Given the description of an element on the screen output the (x, y) to click on. 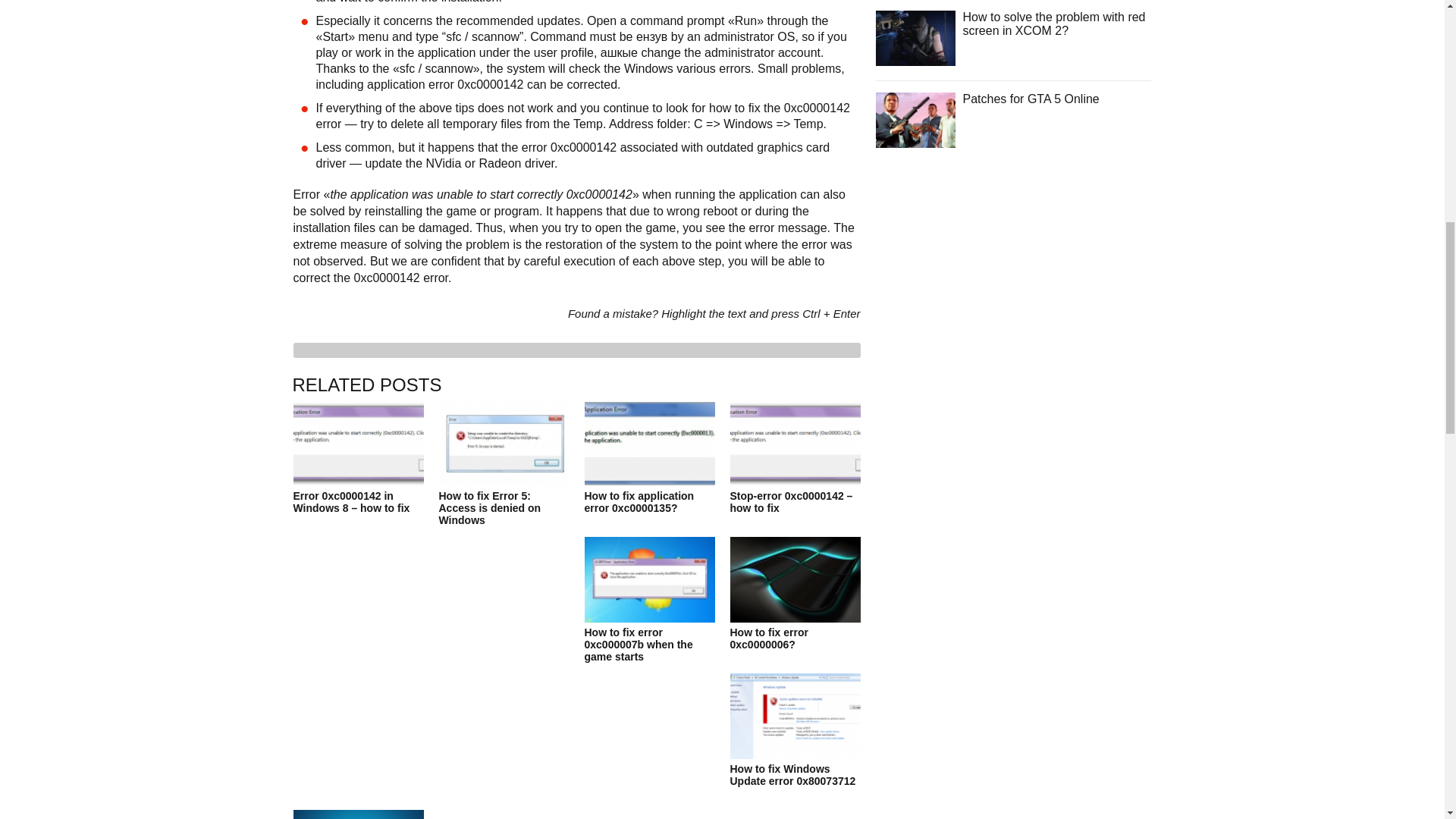
How to fix Error 5: Access is denied on Windows (503, 480)
How to fix error 0xc000007b when the game starts (648, 617)
How to fix error 0xc0000006? (794, 611)
How to fix Windows Update error 0x80073712 (794, 748)
How to fix application error 0xc0000135? (648, 474)
